Given the description of an element on the screen output the (x, y) to click on. 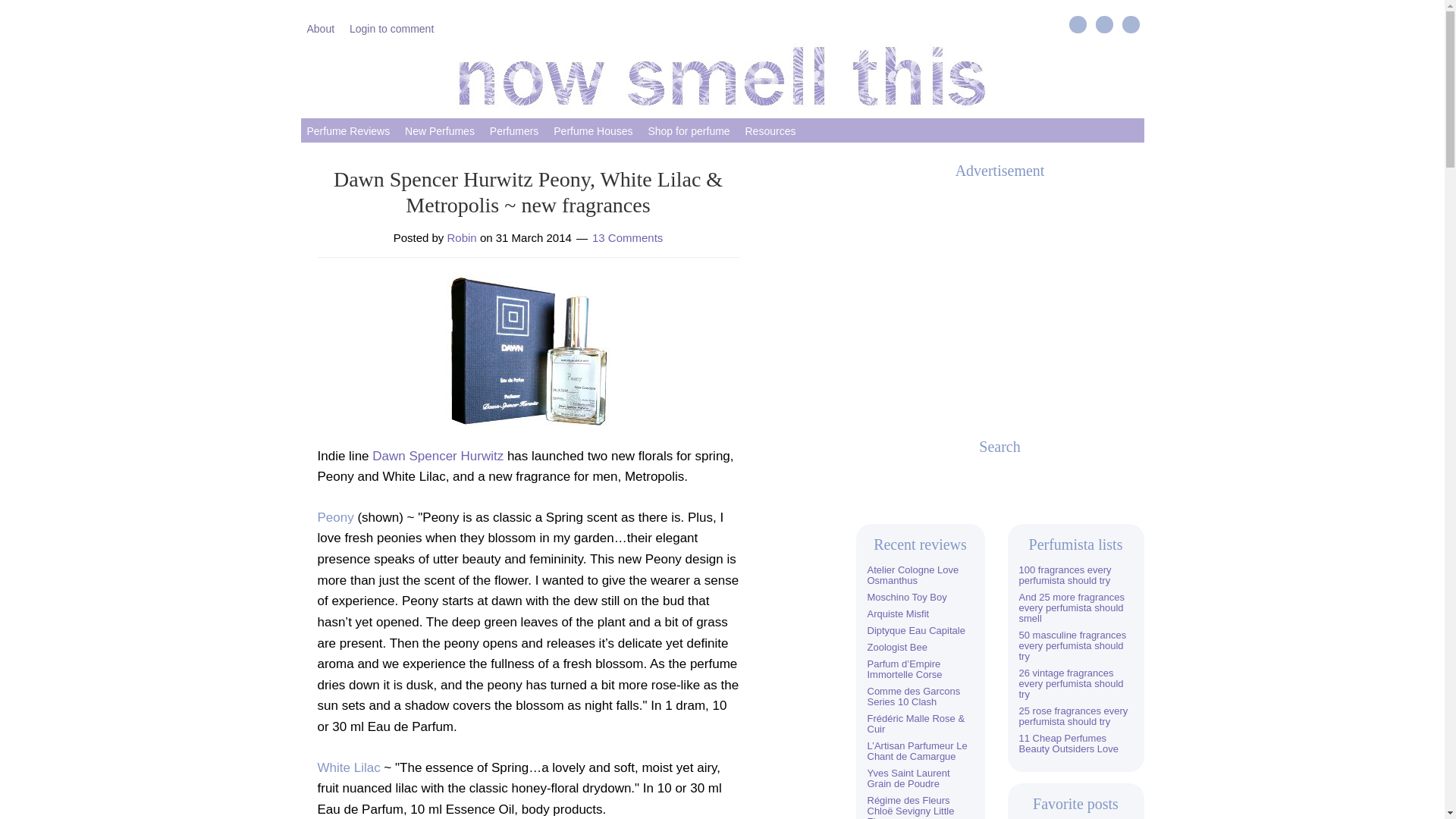
Shop for perfume (688, 129)
Advertisement (999, 296)
Now Smell This (721, 75)
Robin (461, 237)
Perfumers (513, 129)
About (319, 27)
13 Comments (627, 237)
New Perfumes (439, 129)
Login to comment (391, 27)
Dawn Spencer Hurwitz (437, 455)
Perfume Houses (593, 129)
Perfume Reviews (347, 129)
Resources (770, 129)
